Given the description of an element on the screen output the (x, y) to click on. 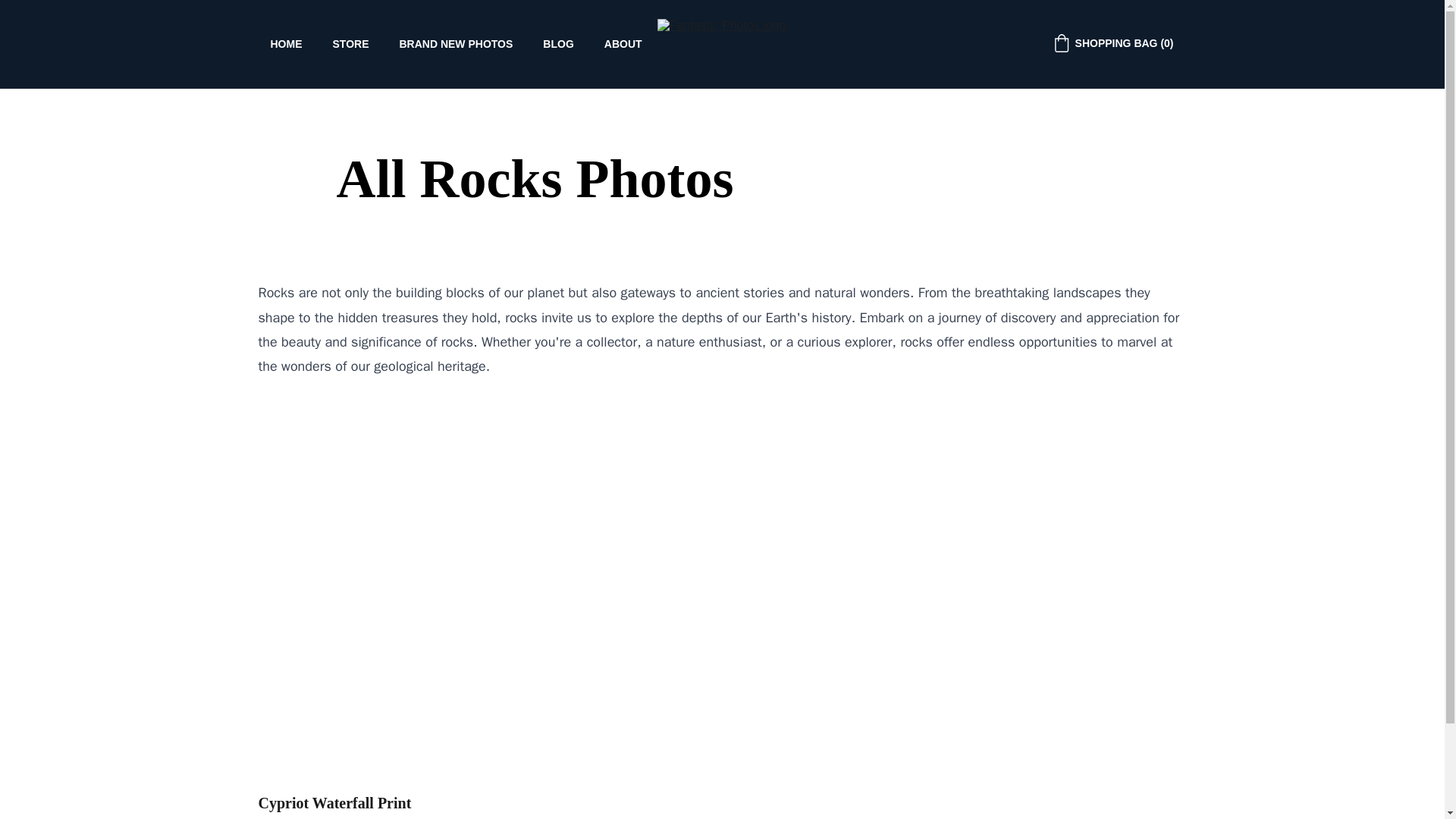
STORE (349, 44)
HOME (285, 44)
Go to cart (1112, 43)
ABOUT (623, 44)
BRAND NEW PHOTOS (455, 44)
BLOG (558, 44)
